Given the description of an element on the screen output the (x, y) to click on. 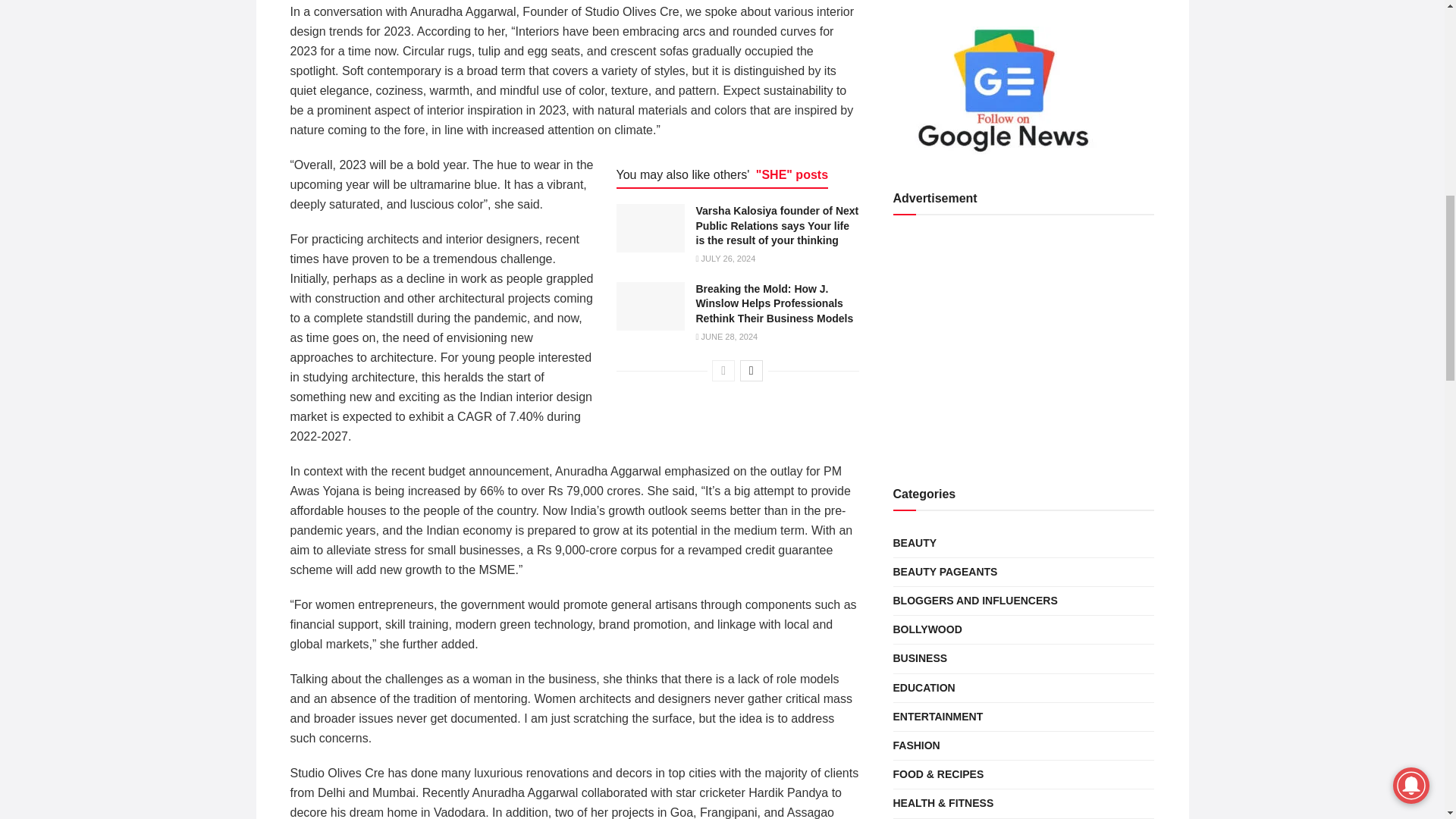
Advertisement (1023, 344)
Next (750, 370)
Previous (723, 370)
